Given the description of an element on the screen output the (x, y) to click on. 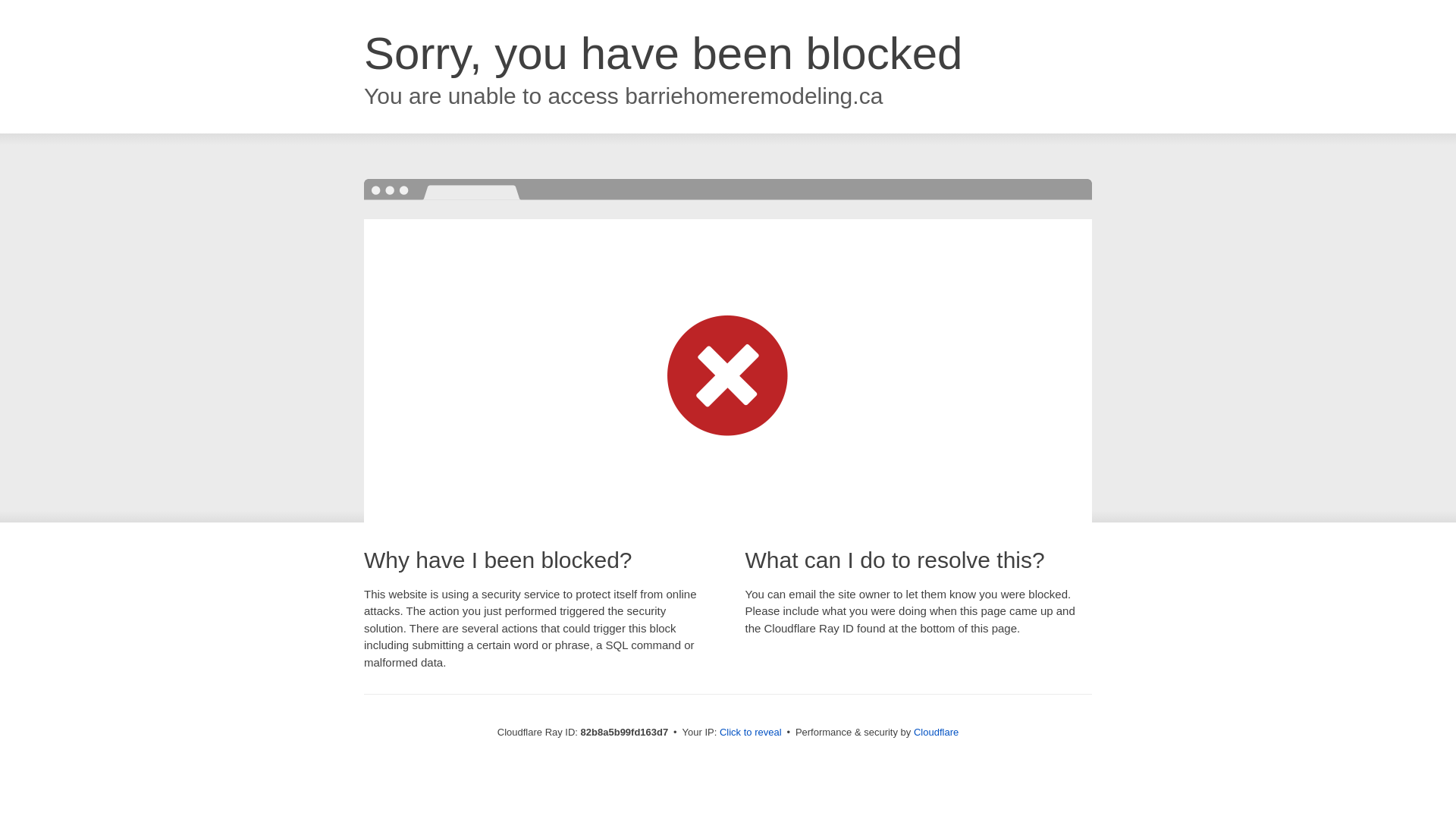
Cloudflare Element type: text (935, 731)
Click to reveal Element type: text (750, 732)
